Given the description of an element on the screen output the (x, y) to click on. 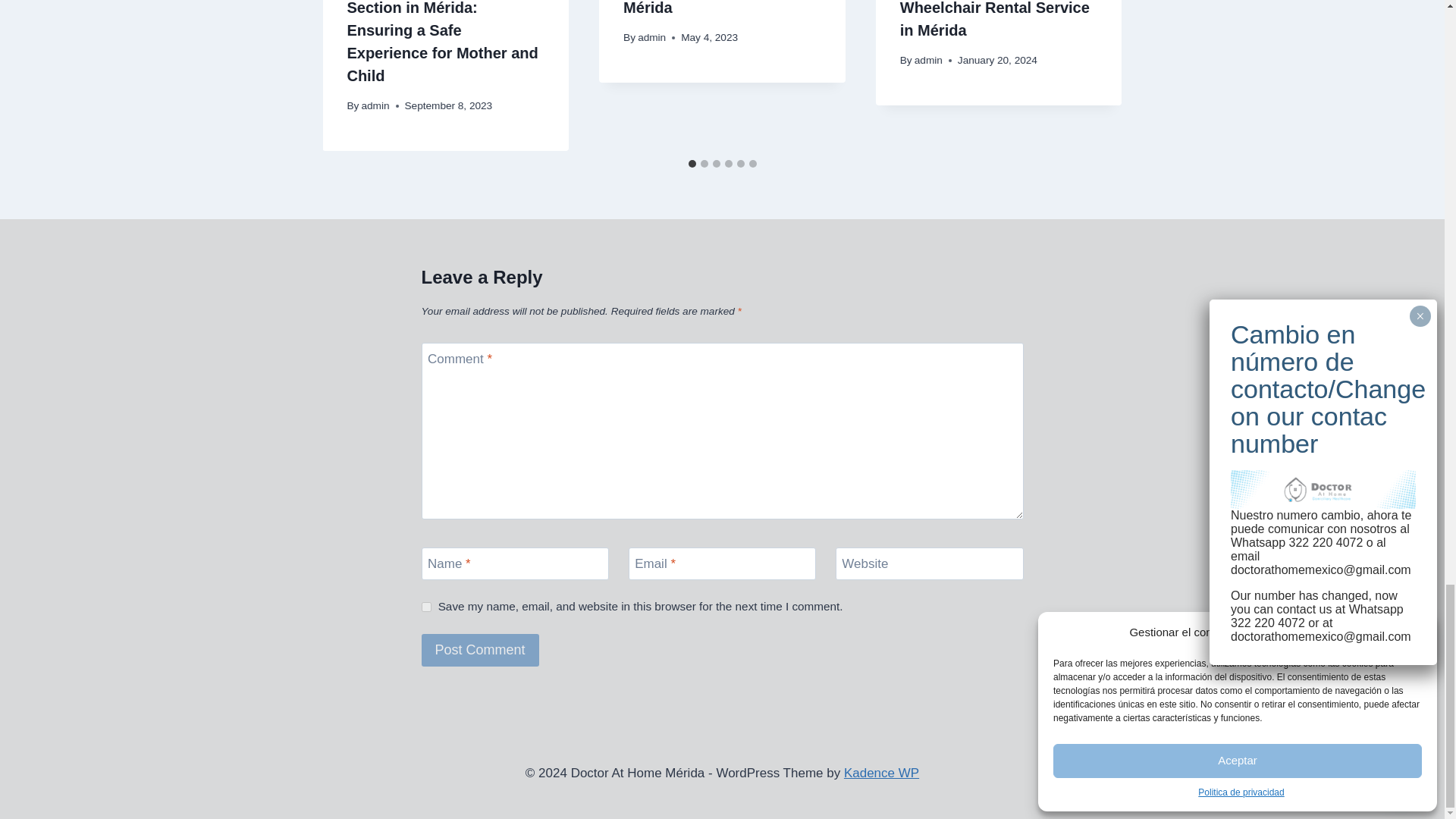
Post Comment (480, 649)
yes (426, 606)
